Given the description of an element on the screen output the (x, y) to click on. 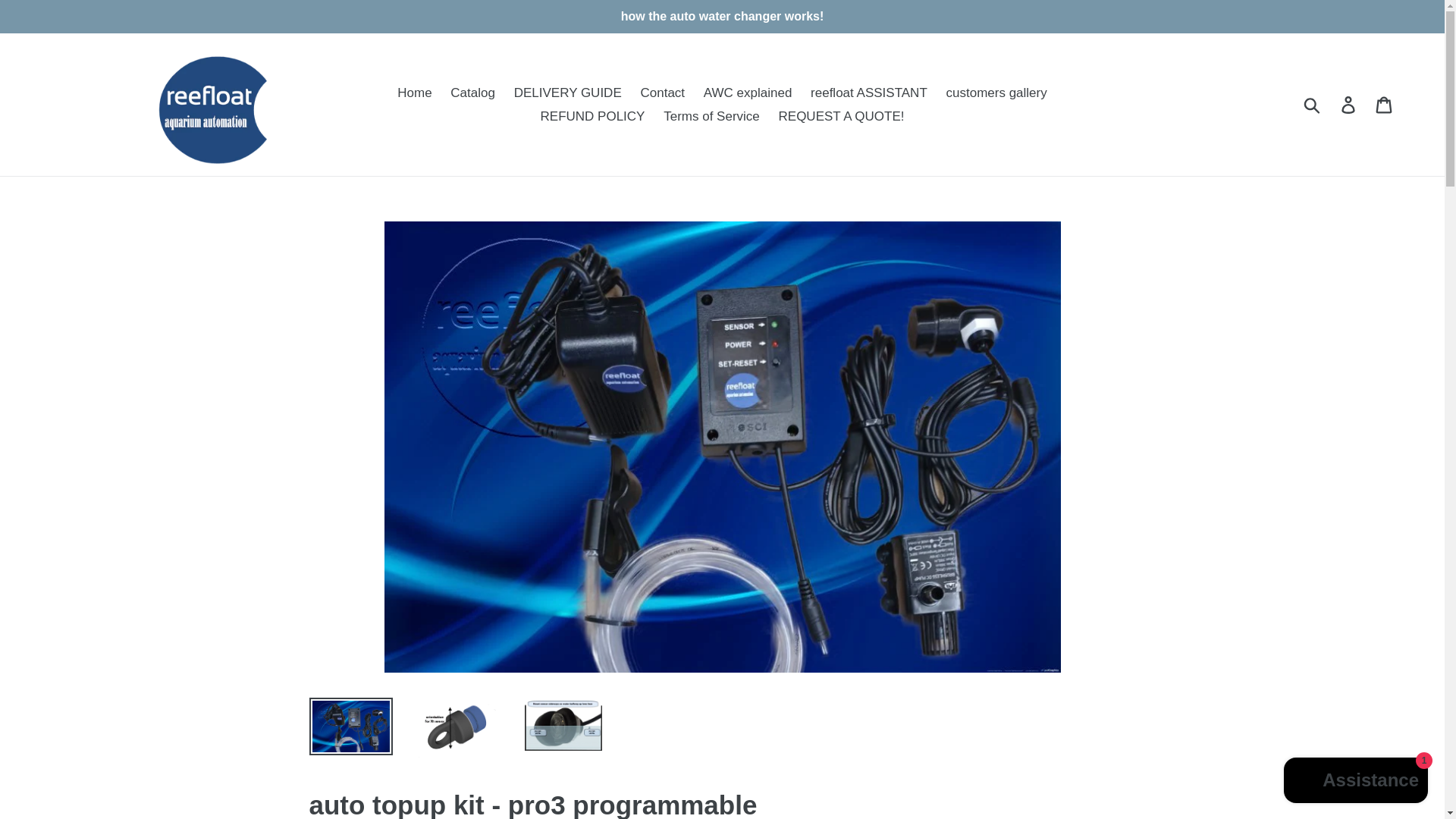
Submit (1313, 104)
Terms of Service (711, 116)
Catalog (472, 92)
AWC explained (747, 92)
customers gallery (996, 92)
DELIVERY GUIDE (567, 92)
Log in (1349, 104)
Cart (1385, 104)
Shopify online store chat (1355, 781)
REQUEST A QUOTE! (841, 116)
Contact (662, 92)
Home (414, 92)
REFUND POLICY (592, 116)
reefloat ASSISTANT (868, 92)
